Given the description of an element on the screen output the (x, y) to click on. 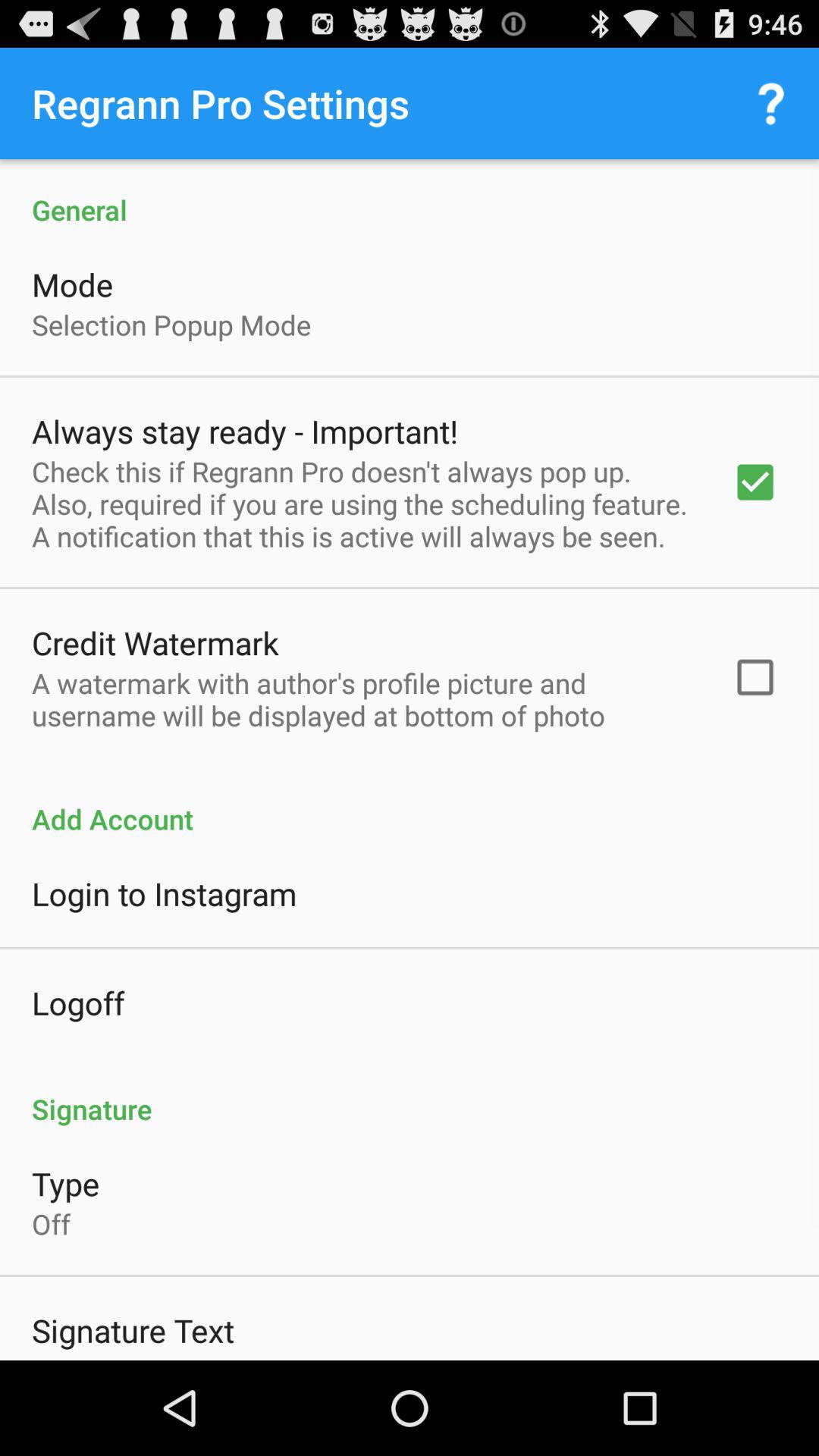
click the icon below the add account icon (163, 893)
